Given the description of an element on the screen output the (x, y) to click on. 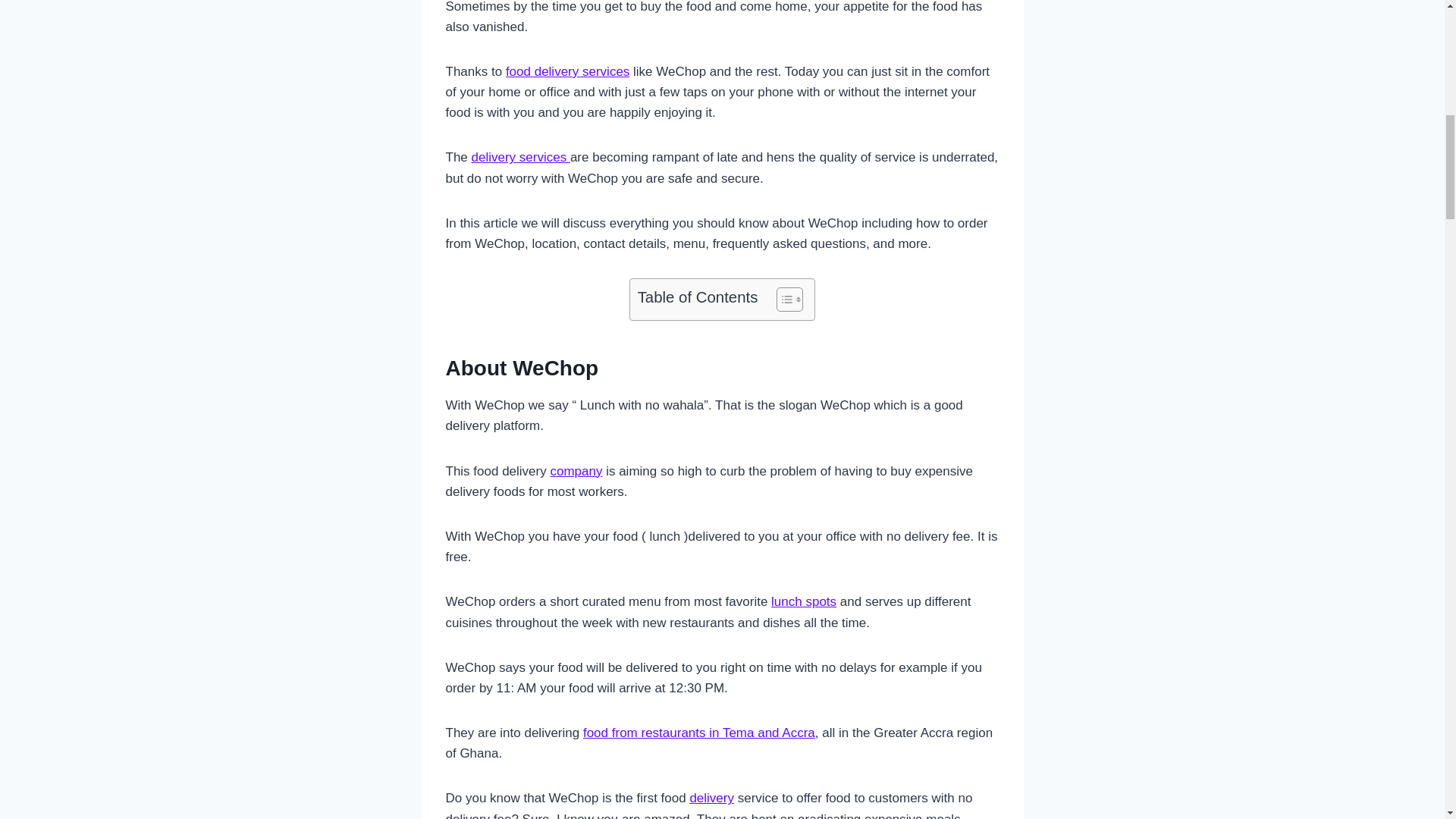
lunch spots (803, 601)
delivery services (520, 156)
food delivery services (566, 71)
company (576, 471)
food from restaurants in Tema and Accra (699, 732)
delivery (710, 798)
